Given the description of an element on the screen output the (x, y) to click on. 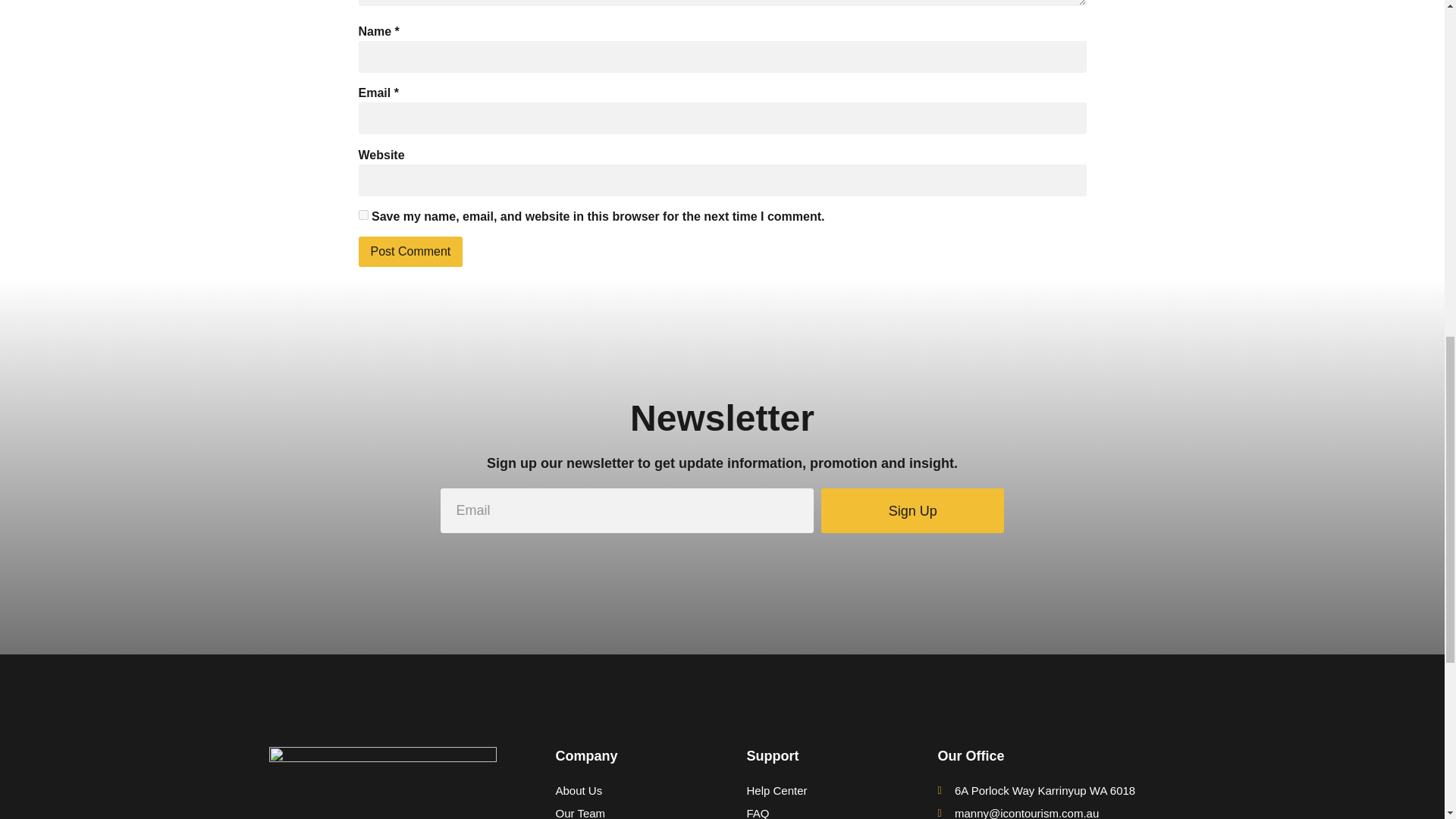
yes (363, 214)
Help Center (816, 791)
Post Comment (410, 251)
Sign Up (912, 510)
About Us (625, 791)
FAQ (816, 811)
Post Comment (410, 251)
Our Team (625, 811)
